Given the description of an element on the screen output the (x, y) to click on. 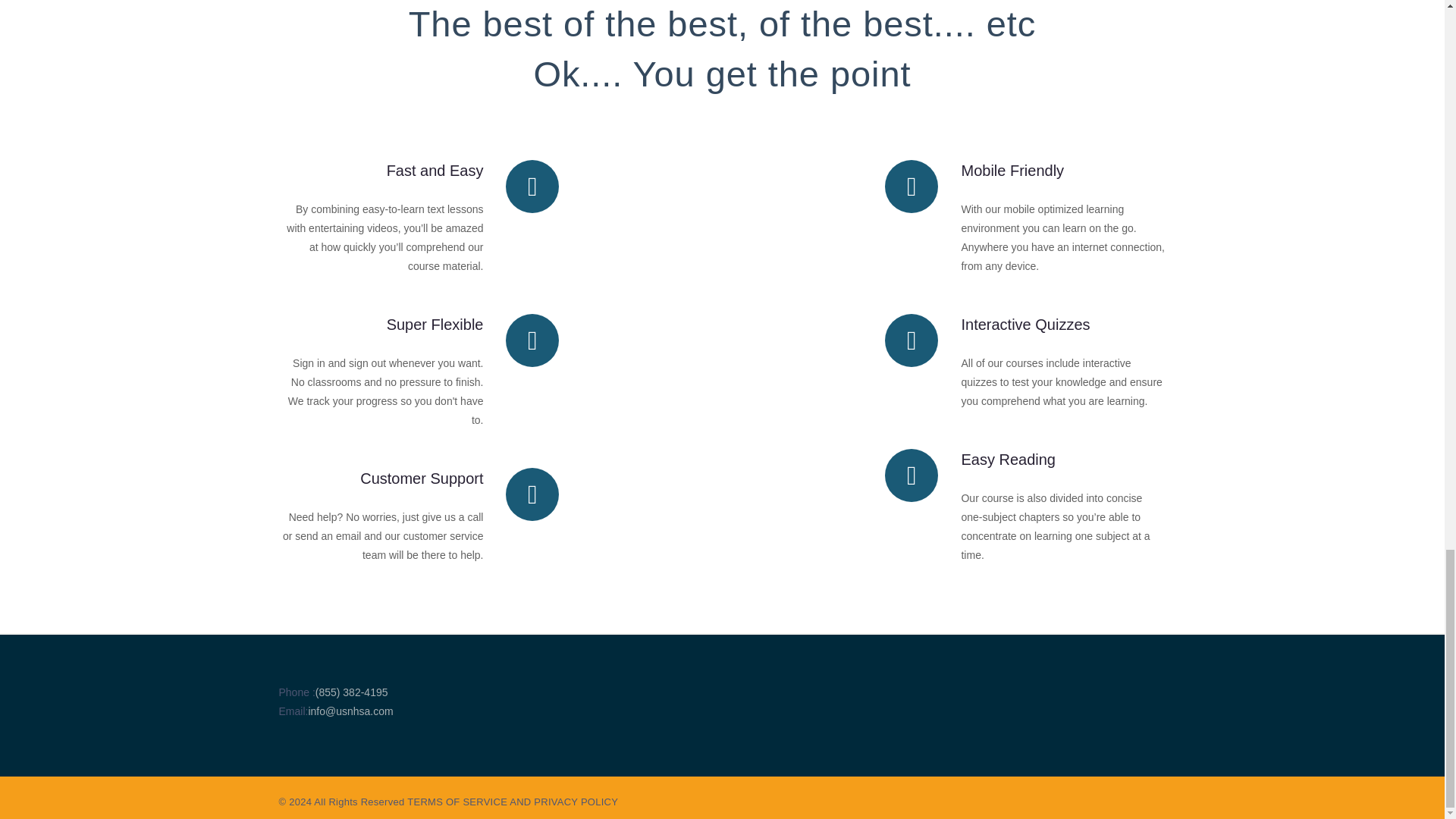
Interactive Quizzes (1024, 324)
Easy Reading (1007, 459)
TERMS OF SERVICE AND PRIVACY POLICY (512, 801)
Mobile Friendly (1012, 170)
